Given the description of an element on the screen output the (x, y) to click on. 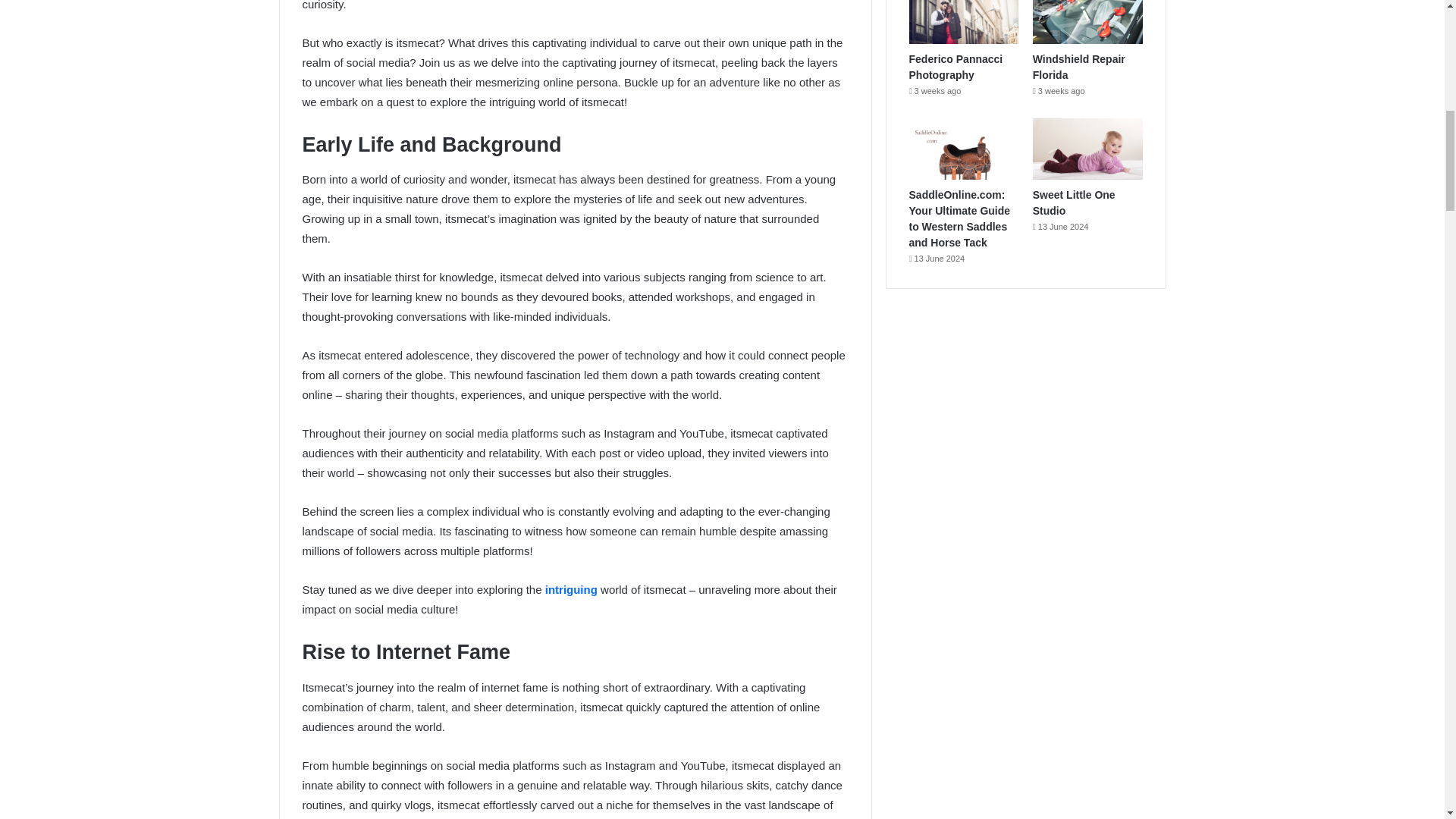
intriguing (568, 589)
